Given the description of an element on the screen output the (x, y) to click on. 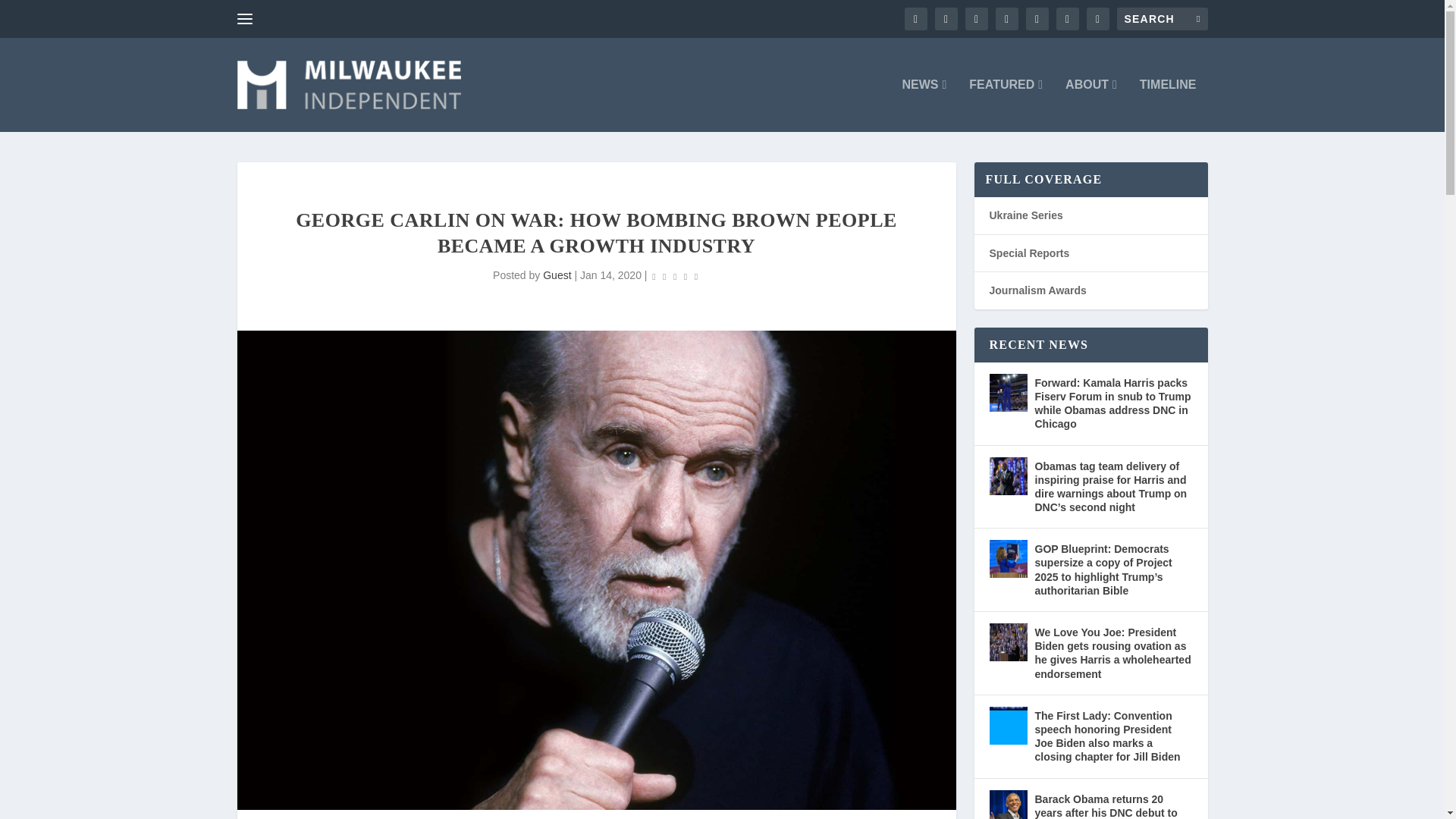
Posts by Guest (556, 275)
ABOUT (1090, 104)
TIMELINE (1168, 104)
Search for: (1161, 18)
FEATURED (1005, 104)
Guest (556, 275)
Rating: 0.00 (674, 275)
